Given the description of an element on the screen output the (x, y) to click on. 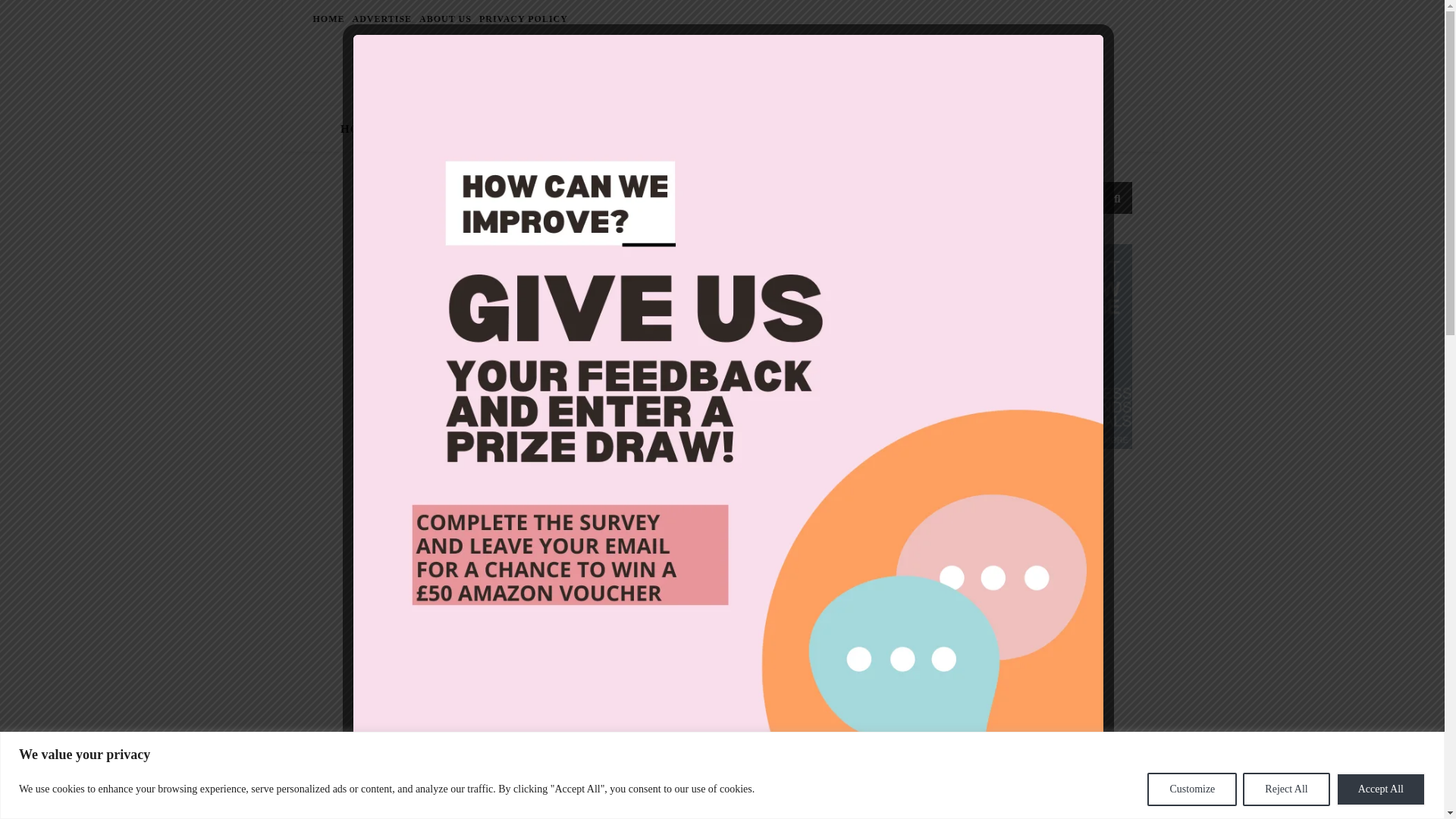
ABOUT US (445, 18)
PRODUCT NEWS (601, 128)
Accept All (1380, 788)
HOME (365, 128)
SPONSORED CONTENT (834, 128)
INDUSTRY NEWS (462, 128)
Close (1088, 796)
Customize (1191, 788)
DIRECTORY (973, 128)
Reject All (1286, 788)
OPINION (711, 128)
ADVERTISE (382, 18)
The Canine Times (721, 68)
HOME (330, 18)
PRIVACY POLICY (521, 18)
